Given the description of an element on the screen output the (x, y) to click on. 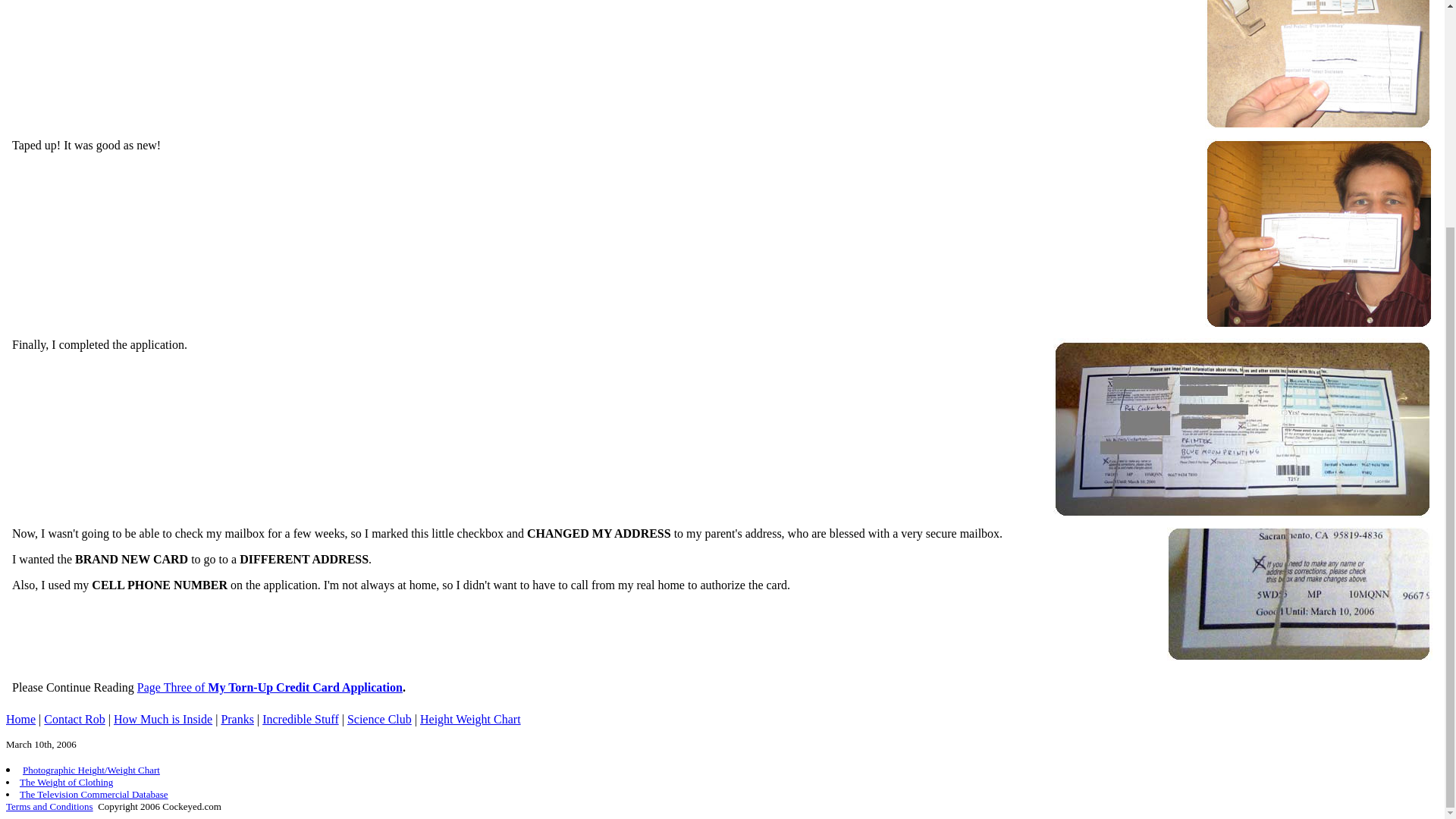
Height Weight Chart (470, 718)
Science Club (379, 718)
Pranks (237, 718)
Terms and Conditions (49, 806)
The Weight of Clothing (66, 781)
The Television Commercial Database (94, 794)
Home (19, 718)
Contact Rob (73, 718)
How Much is Inside (162, 718)
Page Three of My Torn-Up Credit Card Application (269, 686)
Incredible Stuff (300, 718)
